Given the description of an element on the screen output the (x, y) to click on. 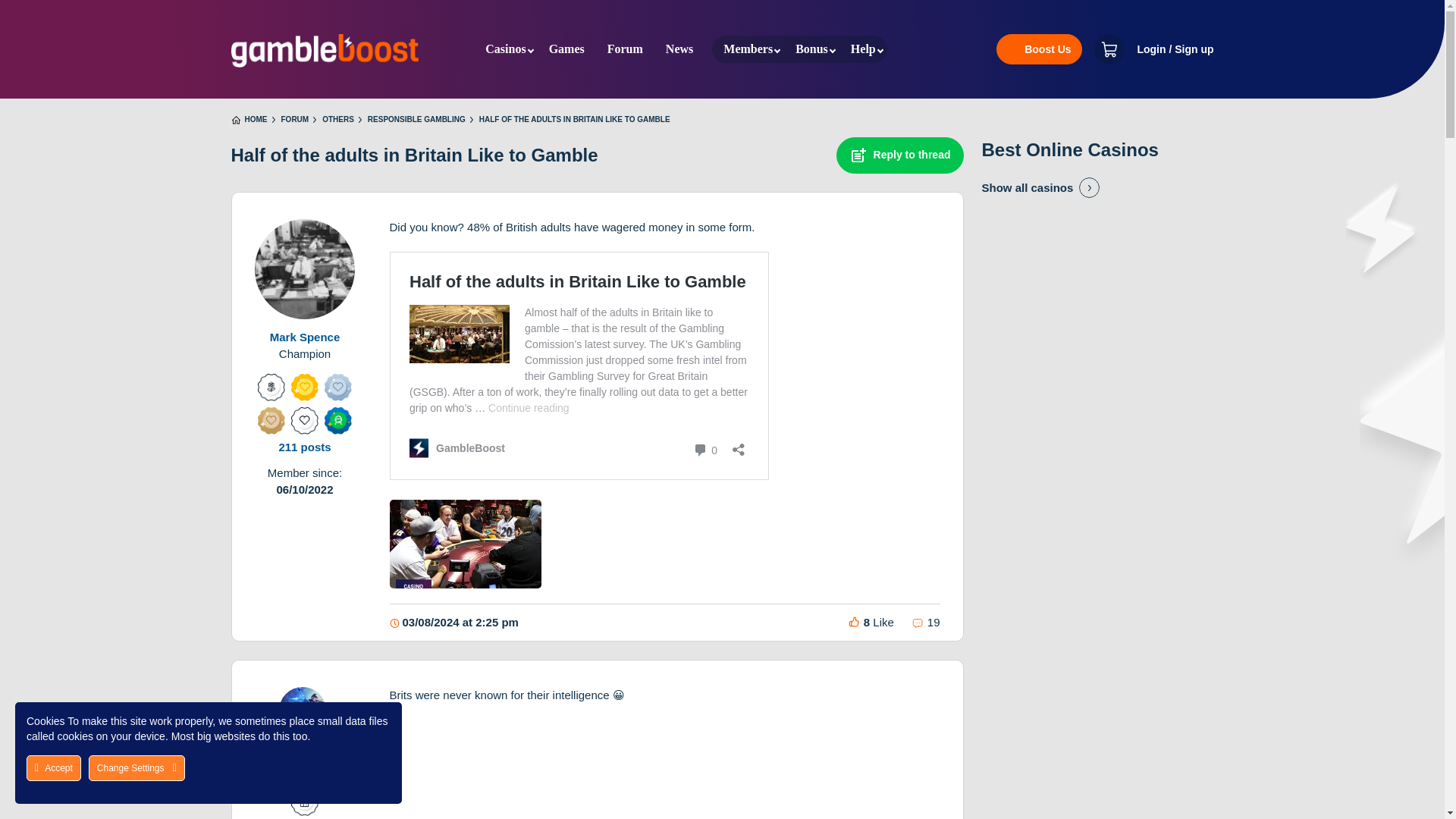
Bonus (811, 48)
Games (566, 48)
View SaintPeter's profile (304, 723)
Help (863, 48)
Casinos (504, 48)
Members (748, 48)
GambleBoost (323, 50)
News (679, 48)
Forum (625, 48)
Uploaded Image (465, 543)
